Given the description of an element on the screen output the (x, y) to click on. 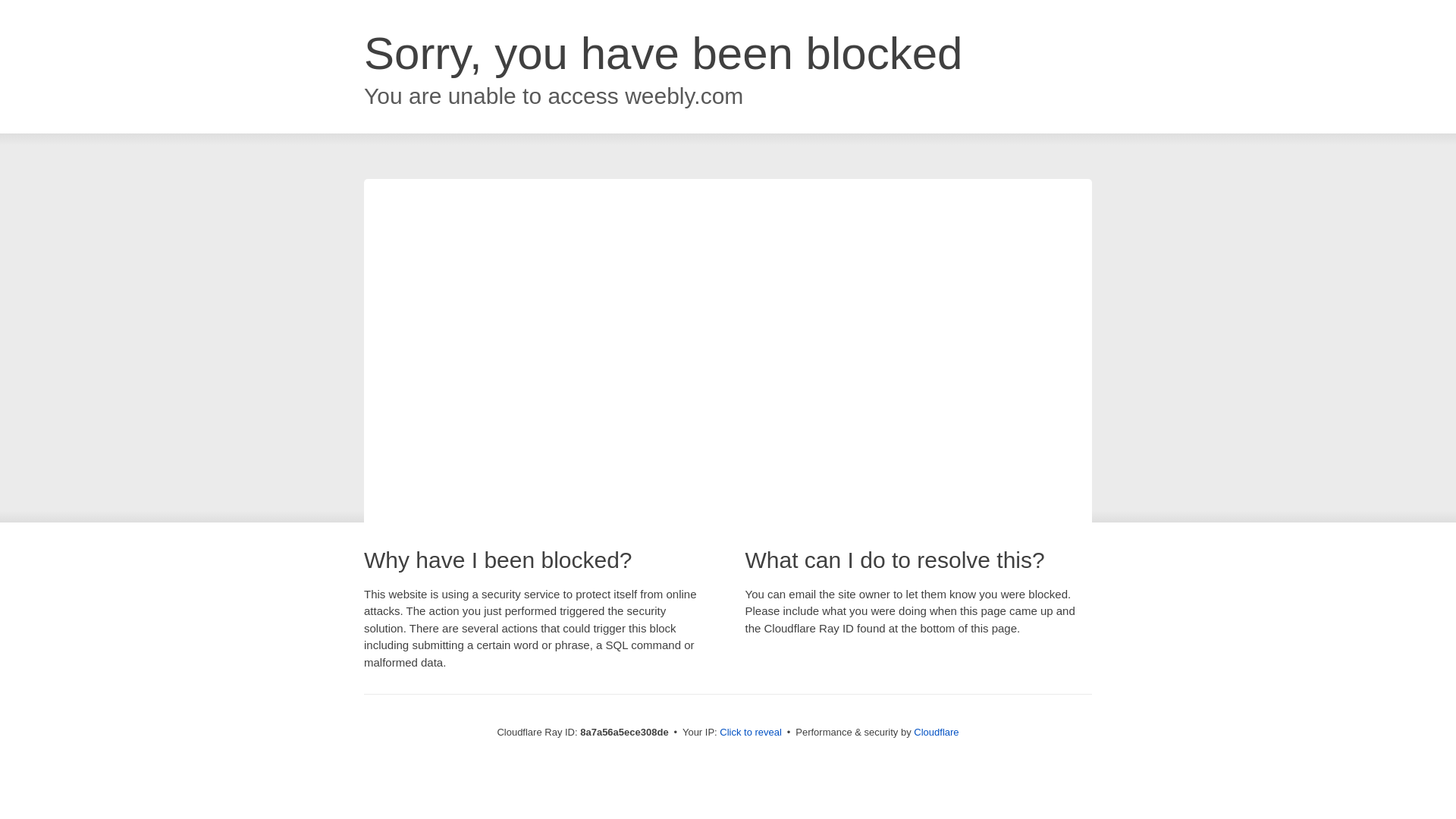
Click to reveal (750, 732)
Cloudflare (936, 731)
